Given the description of an element on the screen output the (x, y) to click on. 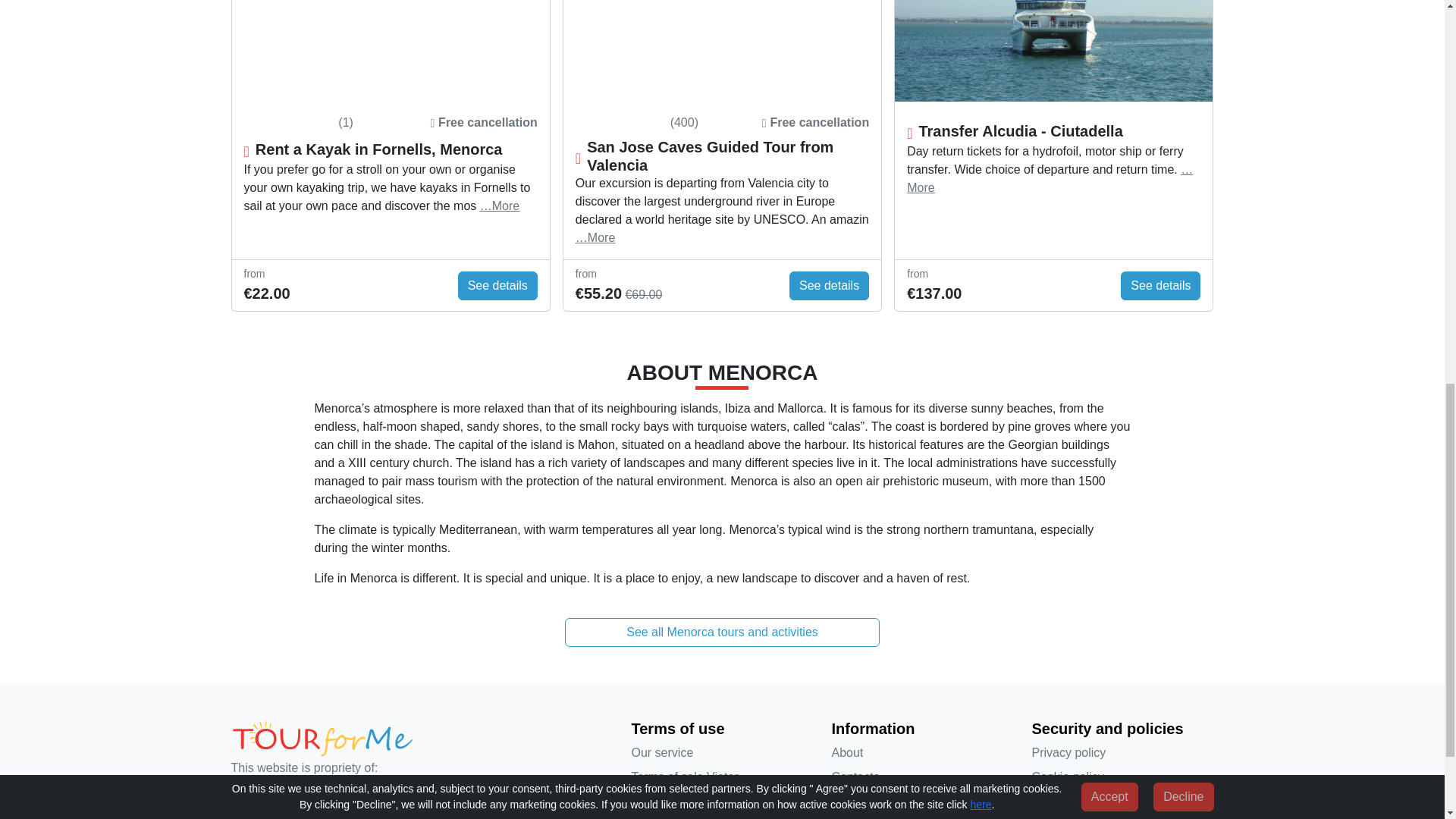
Privacy policy (1121, 752)
Cookie policy (1121, 777)
See details (497, 285)
See all Menorca tours and activities (721, 632)
See details (829, 285)
See details (1160, 285)
Terms of sale MrFerry (721, 801)
Contacts (922, 777)
General information (922, 801)
Terms of sale Viator (721, 777)
About (922, 752)
Our service (721, 752)
